Given the description of an element on the screen output the (x, y) to click on. 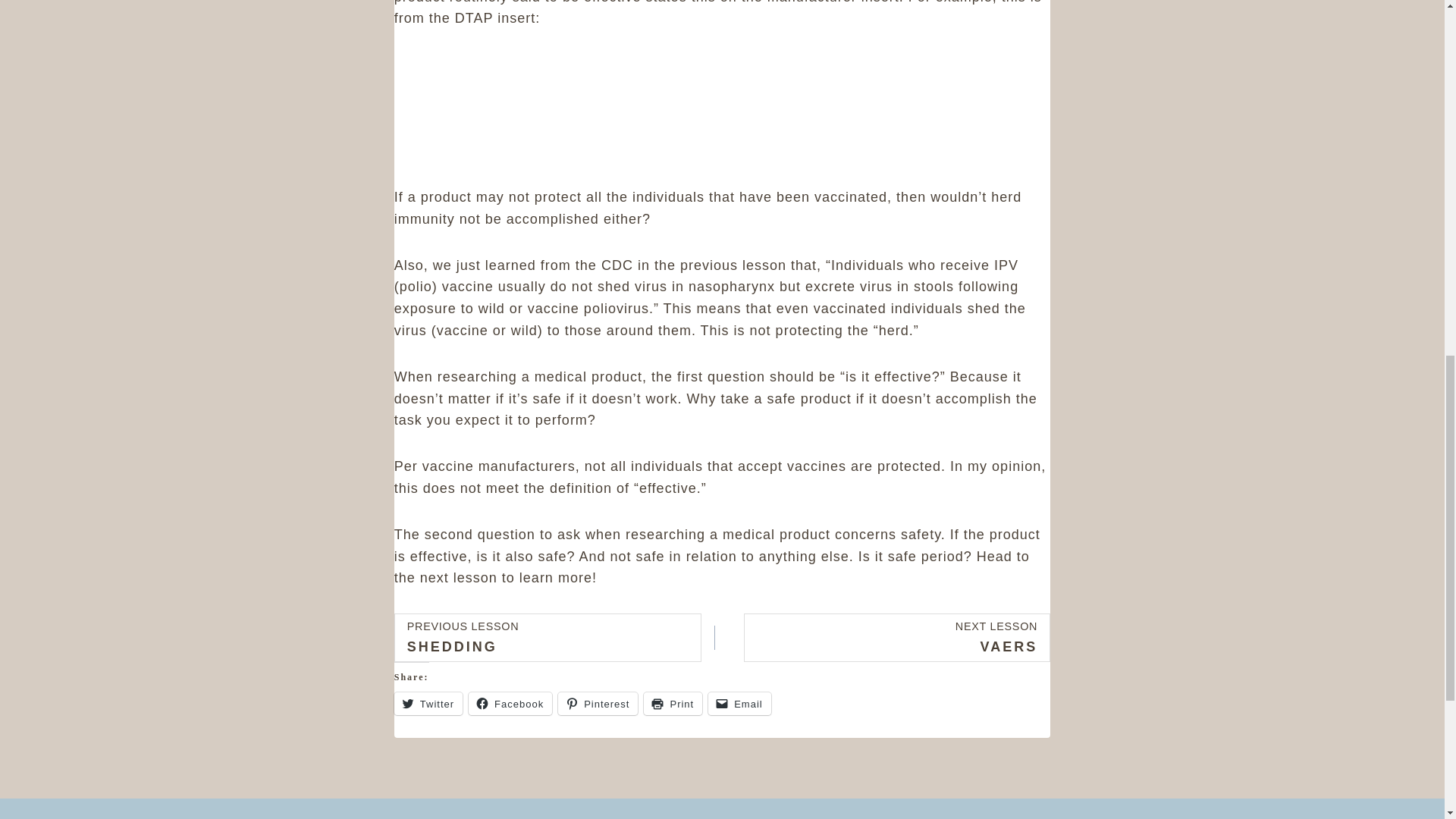
Print (672, 703)
Click to print (672, 703)
Click to email a link to a friend (547, 637)
Facebook (739, 703)
Pinterest (509, 703)
Click to share on Twitter (597, 703)
Click to share on Facebook (428, 703)
Twitter (509, 703)
Email (428, 703)
